Given the description of an element on the screen output the (x, y) to click on. 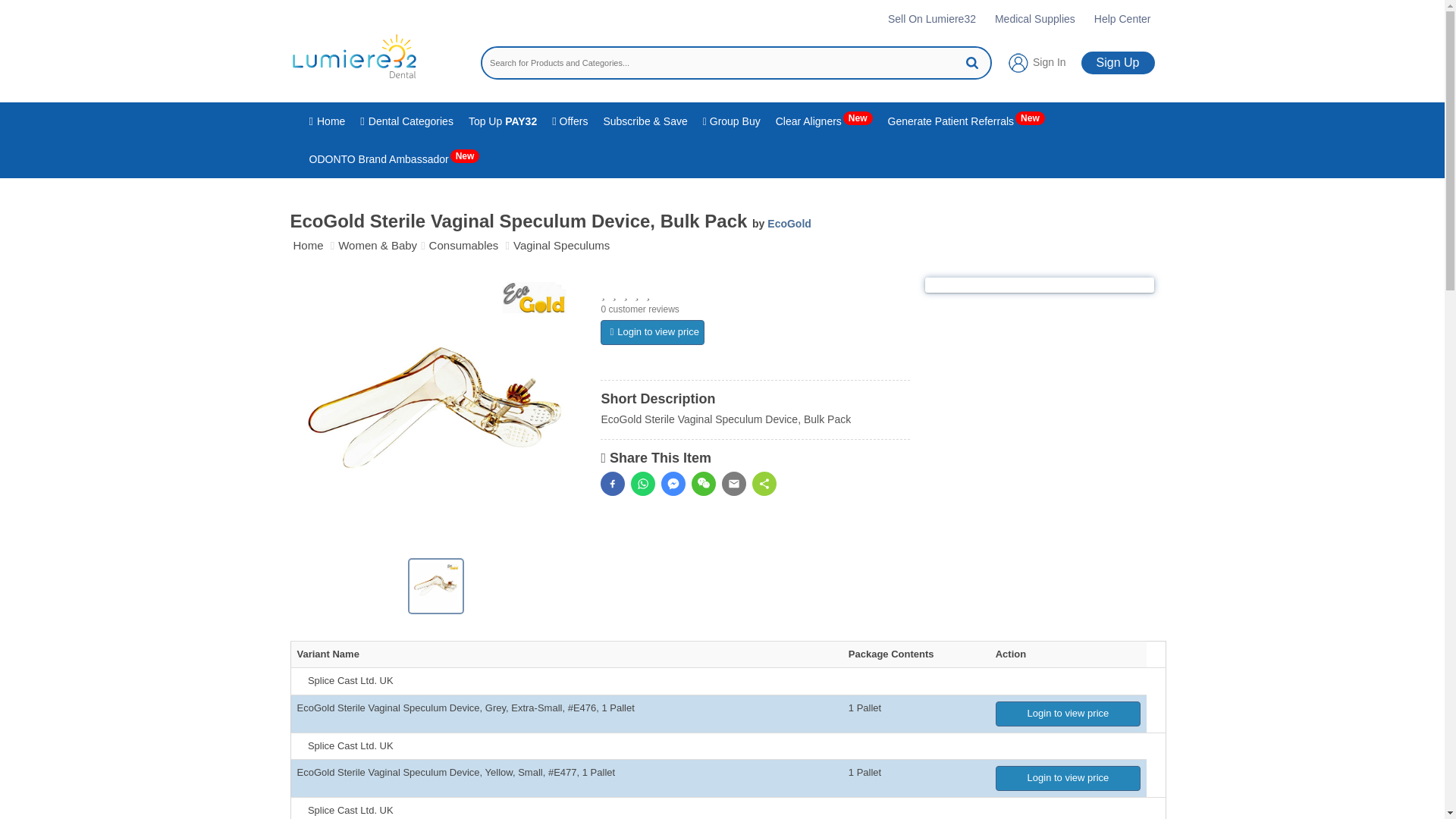
Sign In (1036, 62)
Help Center (1122, 18)
Home (327, 121)
undefined (435, 412)
Sign Up (1117, 62)
Dental Categories (406, 121)
Lumiere32 Dental (353, 56)
EcoGold Sterile Vaginal Speculum Device, Bulk Pack (436, 585)
Sell On Lumiere32 (931, 18)
Medical Supplies (1034, 18)
